Given the description of an element on the screen output the (x, y) to click on. 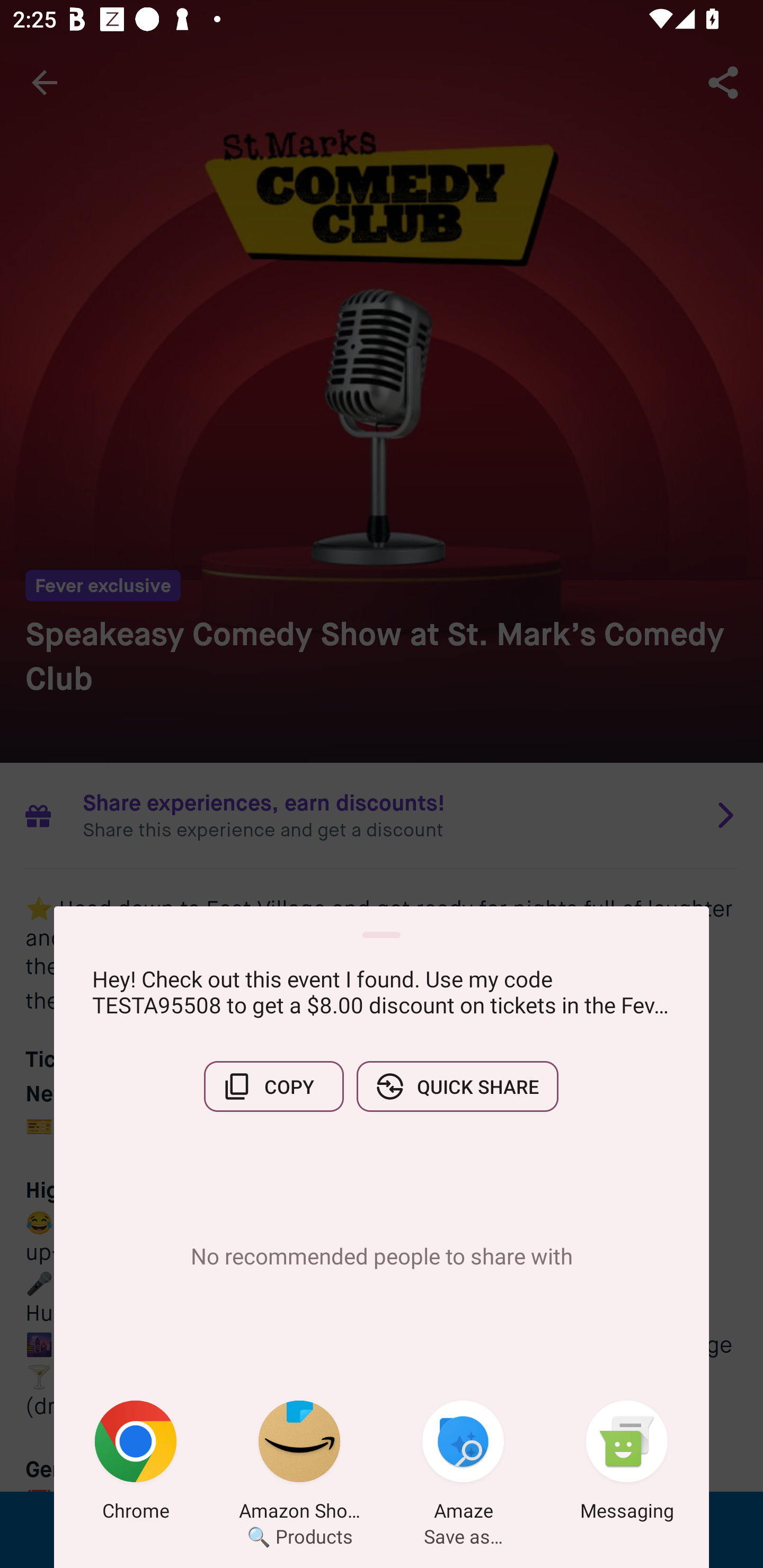
COPY (273, 1086)
QUICK SHARE (457, 1086)
Chrome (135, 1463)
Amazon Shopping 🔍 Products (299, 1463)
Amaze Save as… (463, 1463)
Messaging (626, 1463)
